Given the description of an element on the screen output the (x, y) to click on. 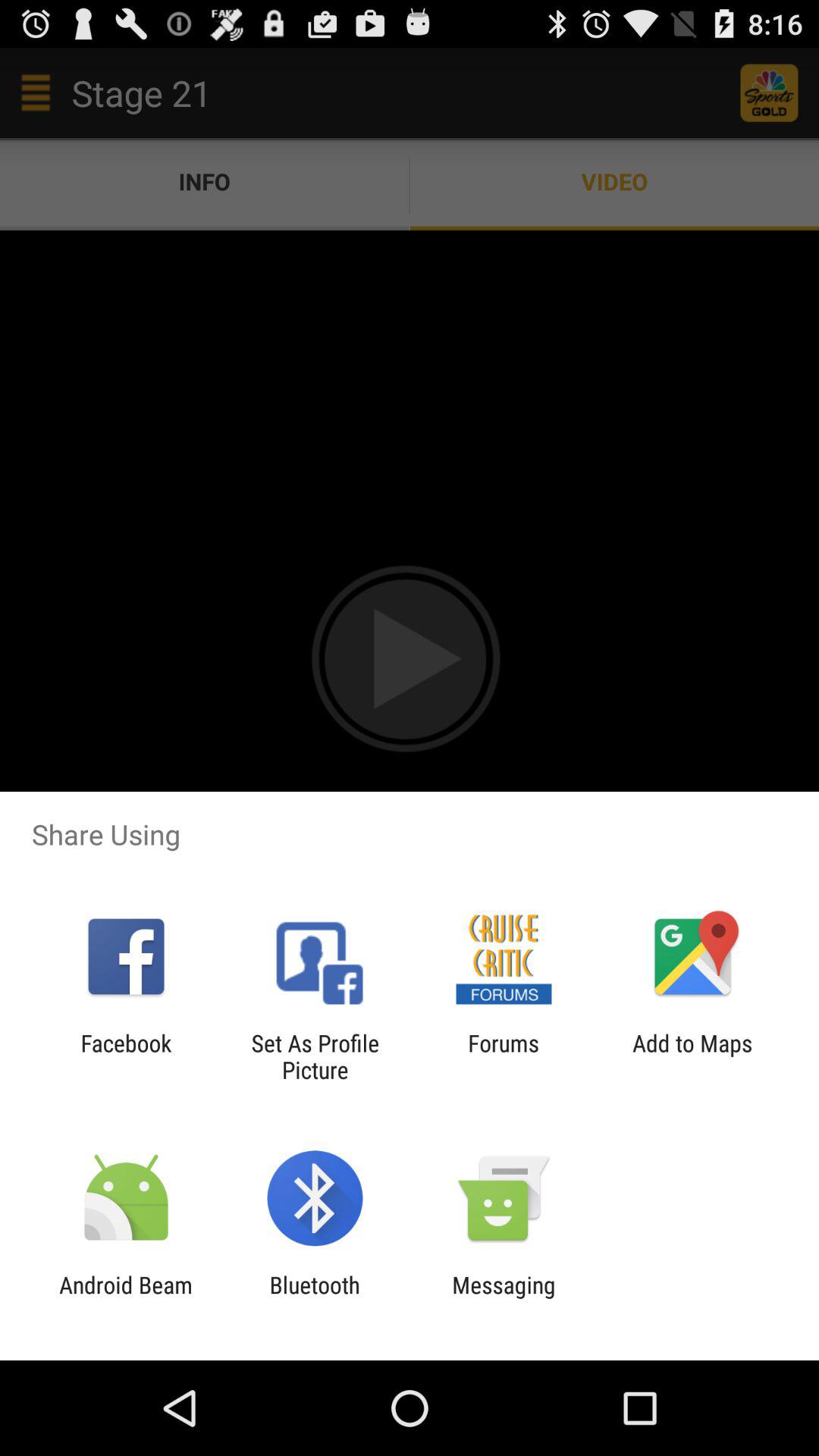
swipe to messaging icon (503, 1298)
